Given the description of an element on the screen output the (x, y) to click on. 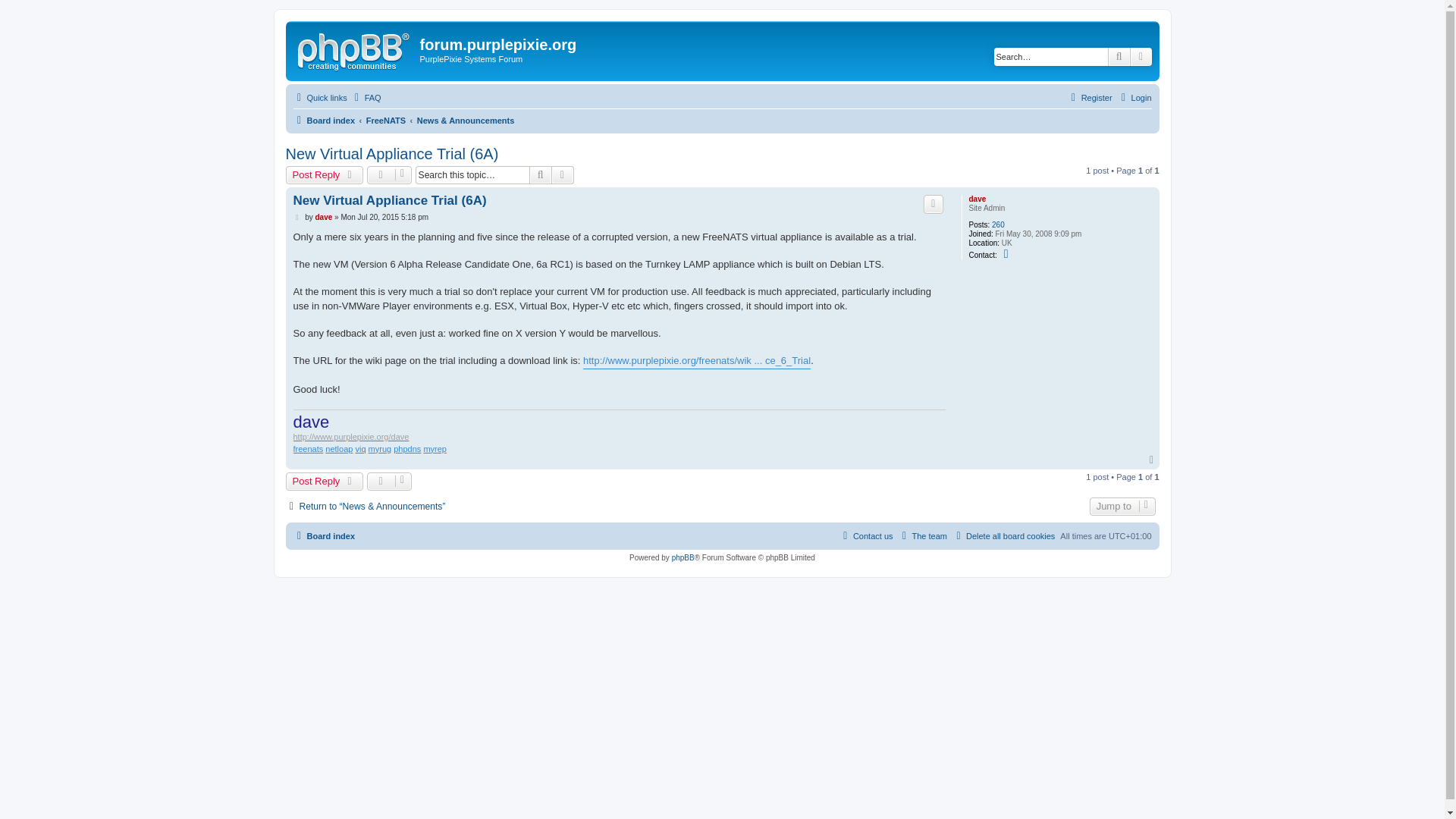
Advanced search (562, 175)
Top (1151, 460)
freenats (307, 449)
Topic tools (389, 175)
Post Reply (323, 175)
phpdns (406, 449)
Advanced search (1141, 56)
Quote (933, 203)
myrug (379, 449)
Board index (323, 120)
Quick links (319, 97)
260 (997, 225)
Search for keywords (1051, 56)
Reply with quote (933, 203)
Board index (323, 120)
